Given the description of an element on the screen output the (x, y) to click on. 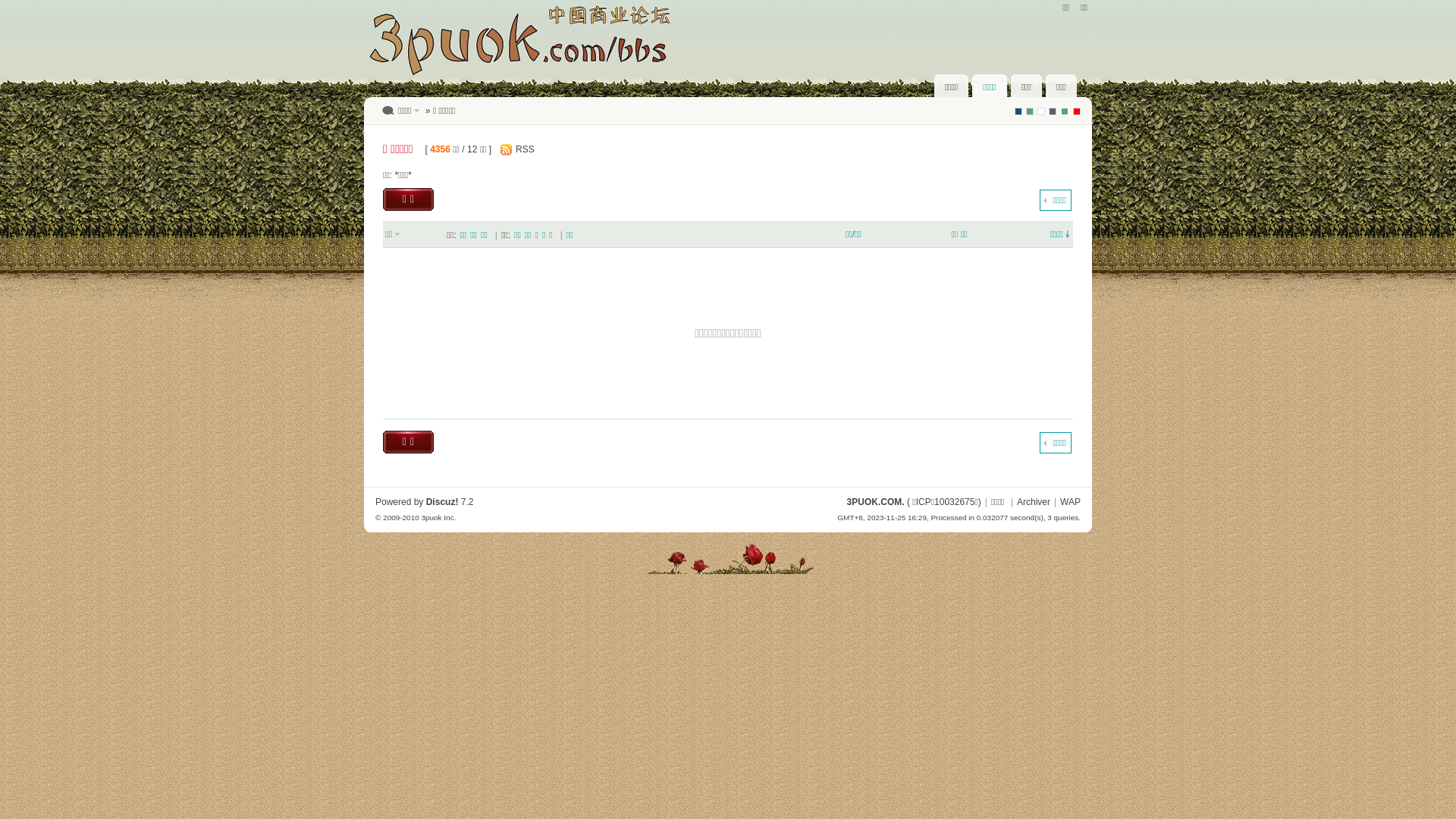
greenwall Element type: text (1064, 111)
3PUOK.COM. Element type: text (875, 501)
RSS Element type: text (521, 148)
3puok Inc. Element type: text (437, 517)
2009 Element type: text (1076, 111)
Archiver Element type: text (1033, 501)
jeans Element type: text (1052, 111)
WAP Element type: text (1070, 501)
Discuz! Element type: text (442, 501)
